Given the description of an element on the screen output the (x, y) to click on. 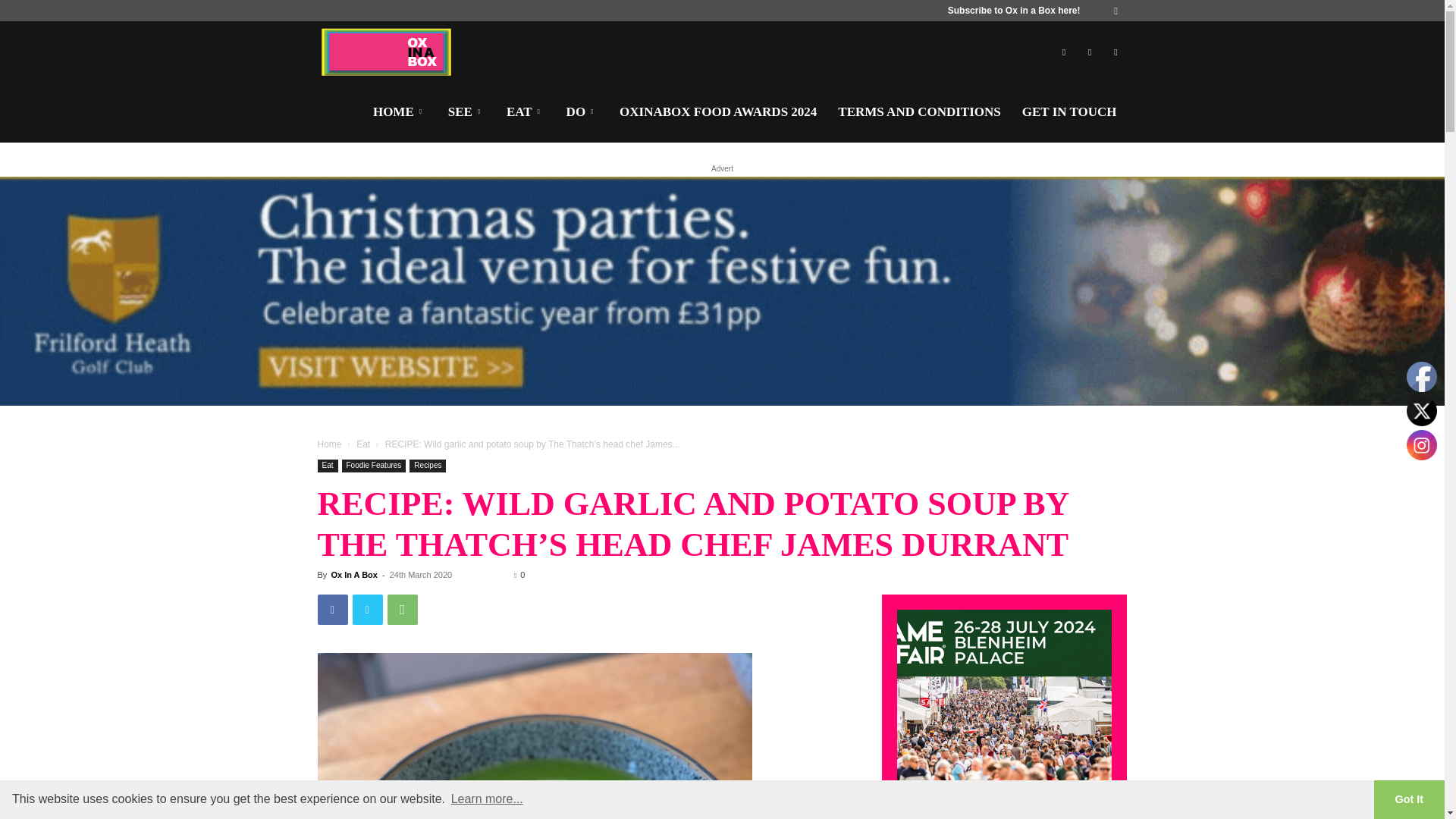
Ox in a Box (387, 52)
Subscribe to Ox in a Box here! (1013, 9)
Twitter (366, 609)
Search (1085, 64)
View all posts in Eat (362, 443)
WhatsApp (401, 609)
Facebook (332, 609)
